Given the description of an element on the screen output the (x, y) to click on. 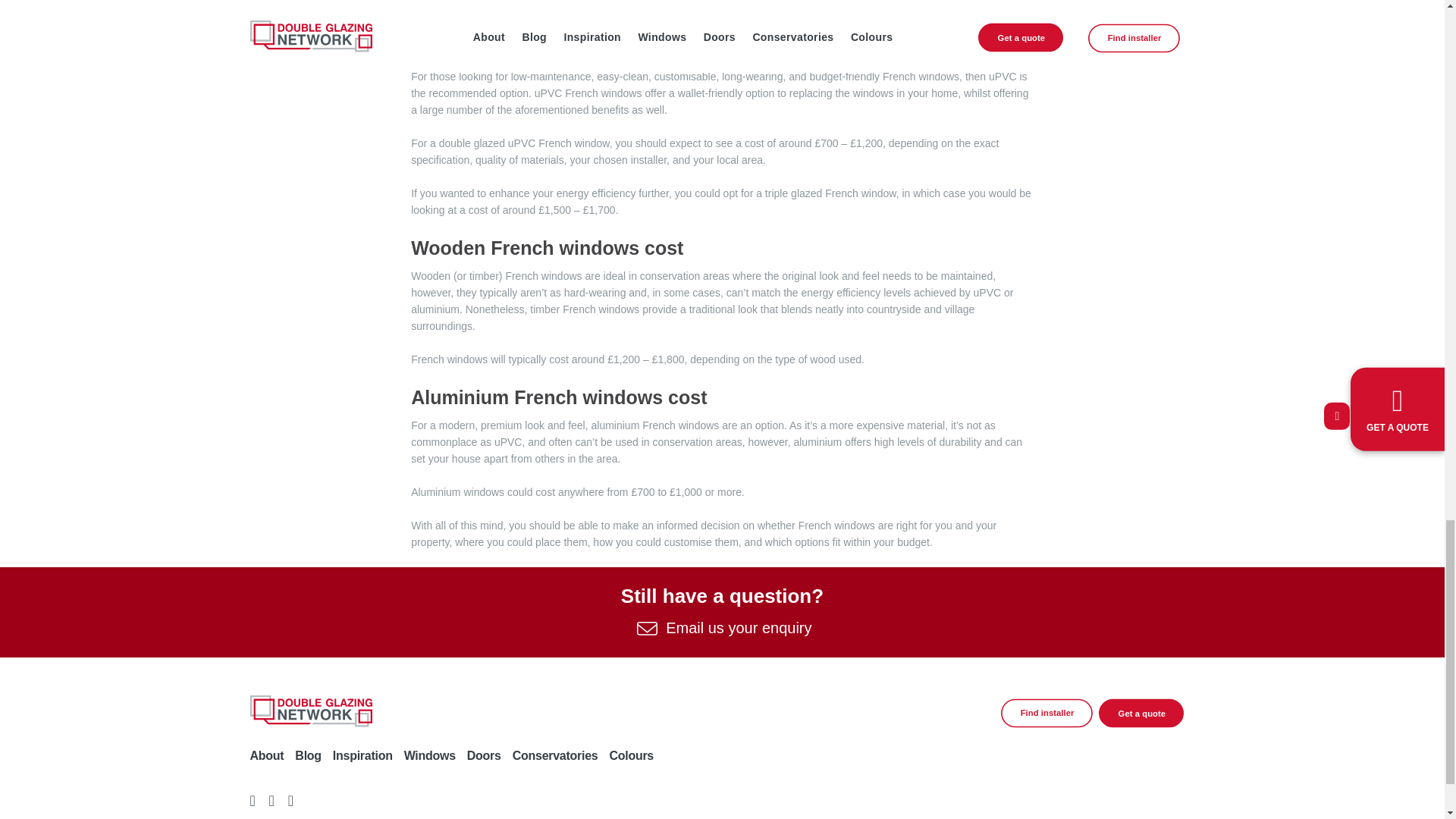
Inspiration (363, 755)
About (266, 755)
Get a quote (1152, 715)
Colours (630, 755)
   Email us your enquiry (722, 627)
Blog (307, 755)
Doors (483, 755)
Find installer (1058, 715)
Windows (429, 755)
Conservatories (555, 755)
